Given the description of an element on the screen output the (x, y) to click on. 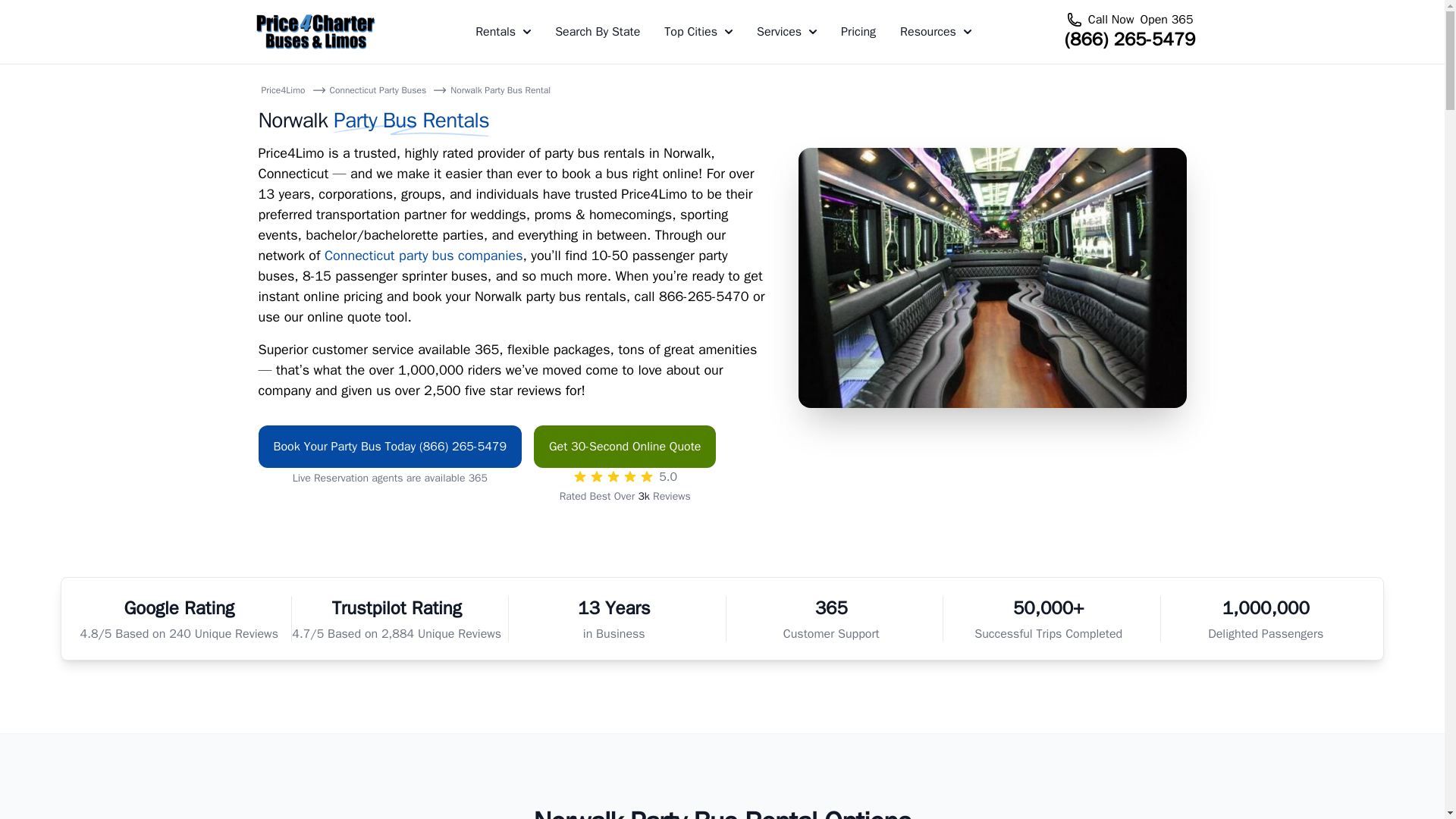
Top Cities (697, 31)
Call Now (1110, 19)
Open 365 (1166, 19)
Rentals (503, 31)
Services (786, 31)
Search By State (597, 31)
Pricing (858, 31)
Resources (935, 31)
